Given the description of an element on the screen output the (x, y) to click on. 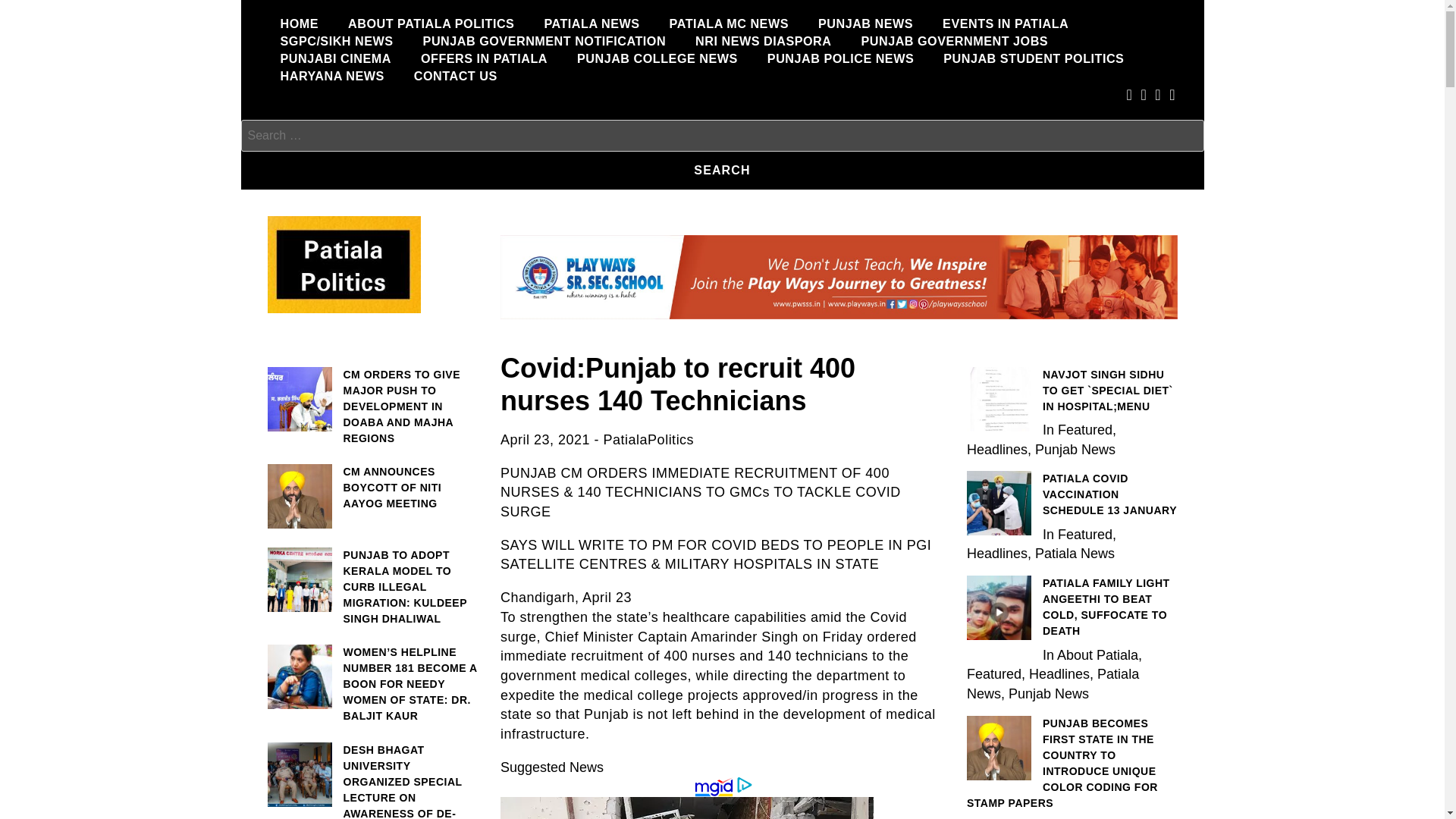
PUNJAB STUDENT POLITICS (1033, 57)
PUNJAB POLICE NEWS (839, 57)
PATIALA MC NEWS (728, 23)
PUNJAB COLLEGE NEWS (657, 57)
Search (722, 170)
ABOUT PATIALA POLITICS (430, 23)
OFFERS IN PATIALA (484, 57)
PUNJABI CINEMA (334, 57)
CONTACT US (455, 75)
HOME (298, 23)
NRI NEWS DIASPORA (763, 40)
PATIALA NEWS (591, 23)
PUNJAB NEWS (865, 23)
